Given the description of an element on the screen output the (x, y) to click on. 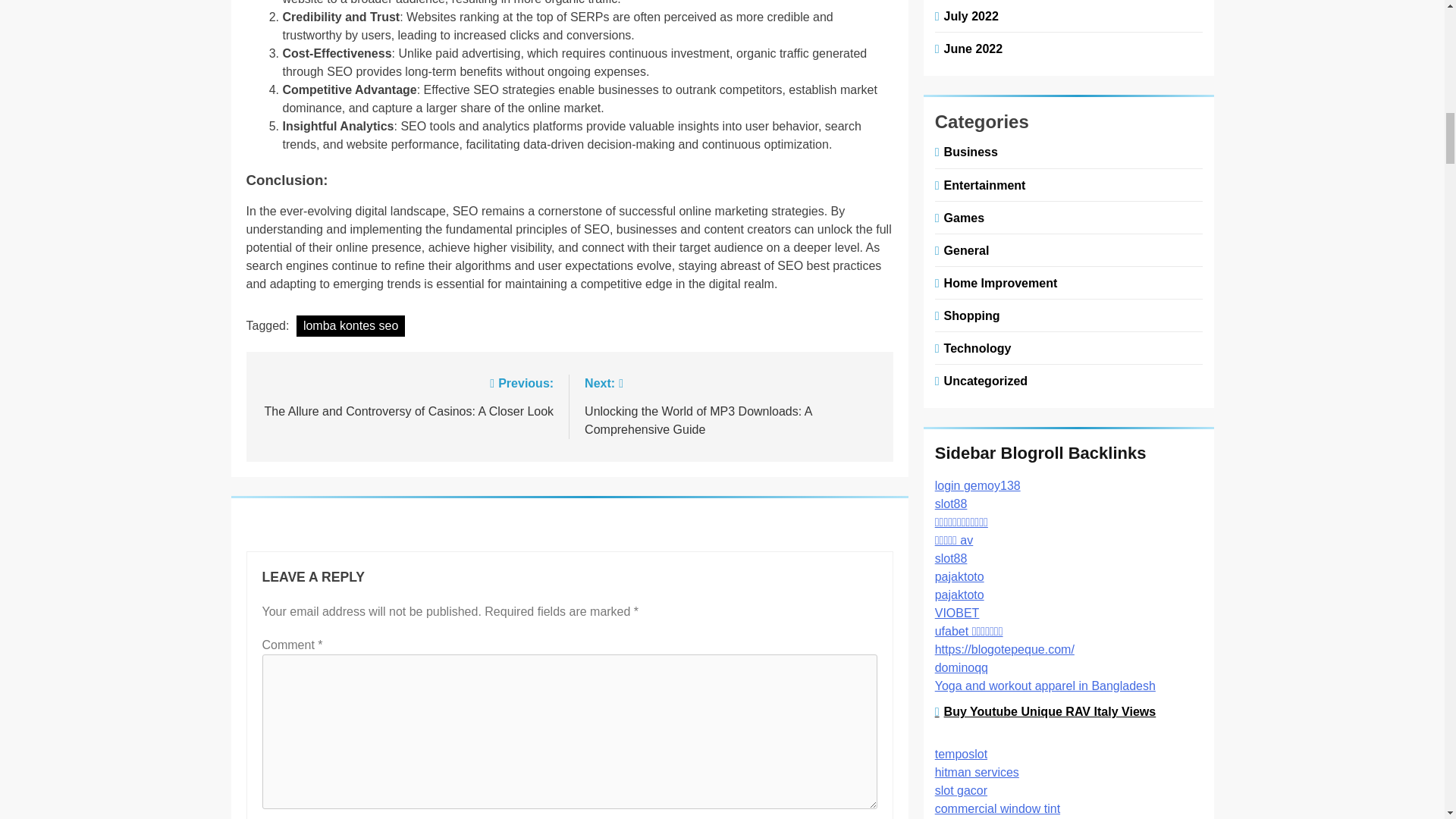
lomba kontes seo (350, 325)
